Given the description of an element on the screen output the (x, y) to click on. 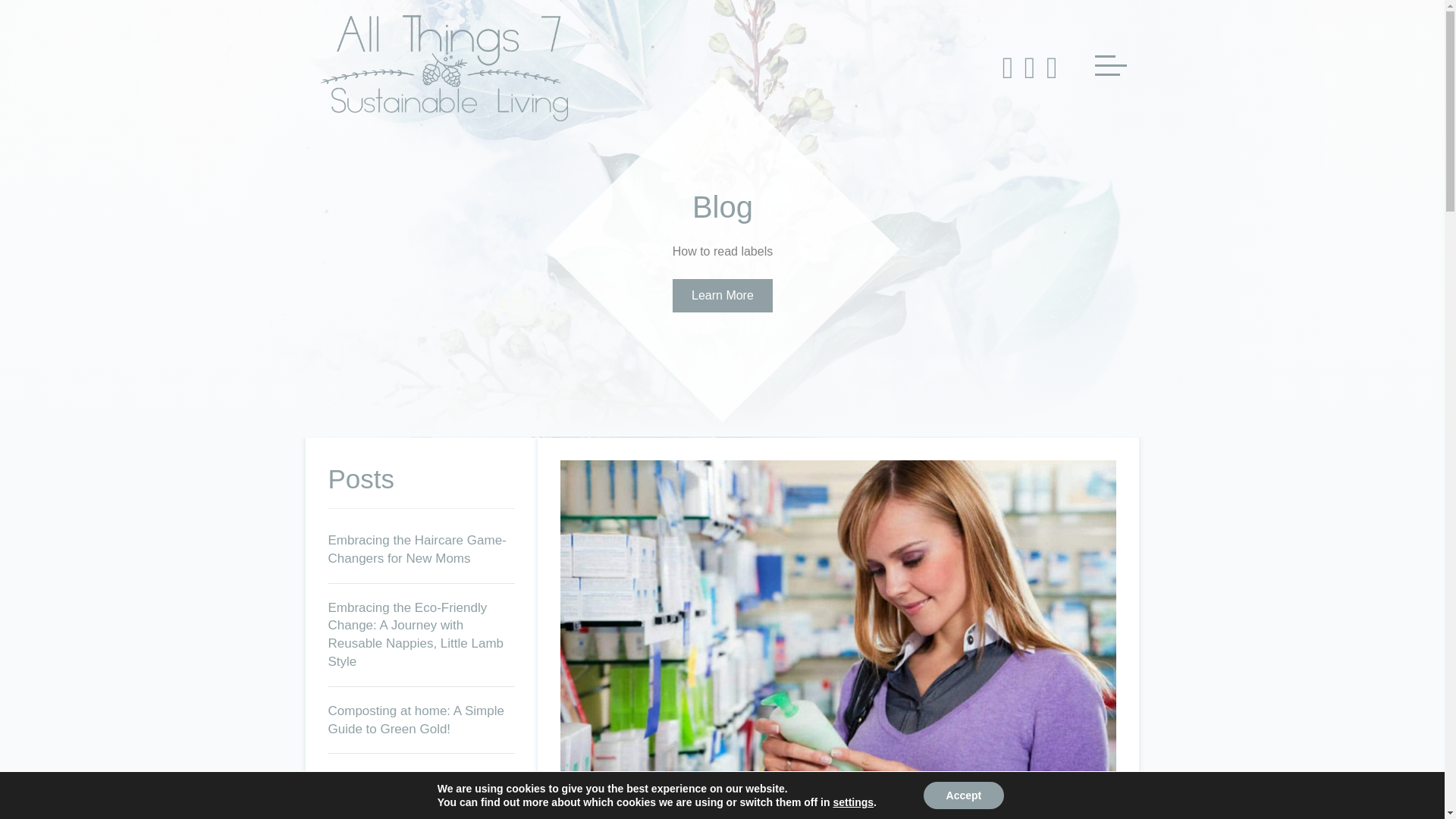
Embracing the Haircare Game-Changers for New Moms (416, 549)
Learn More (722, 295)
Embracing the Haircare Game-Changers for New Moms (416, 549)
Composting at home: A Simple Guide to Green Gold! (415, 719)
Composting at home: A Simple Guide to Green Gold! (415, 719)
All-Things-7-Logo (443, 68)
